Given the description of an element on the screen output the (x, y) to click on. 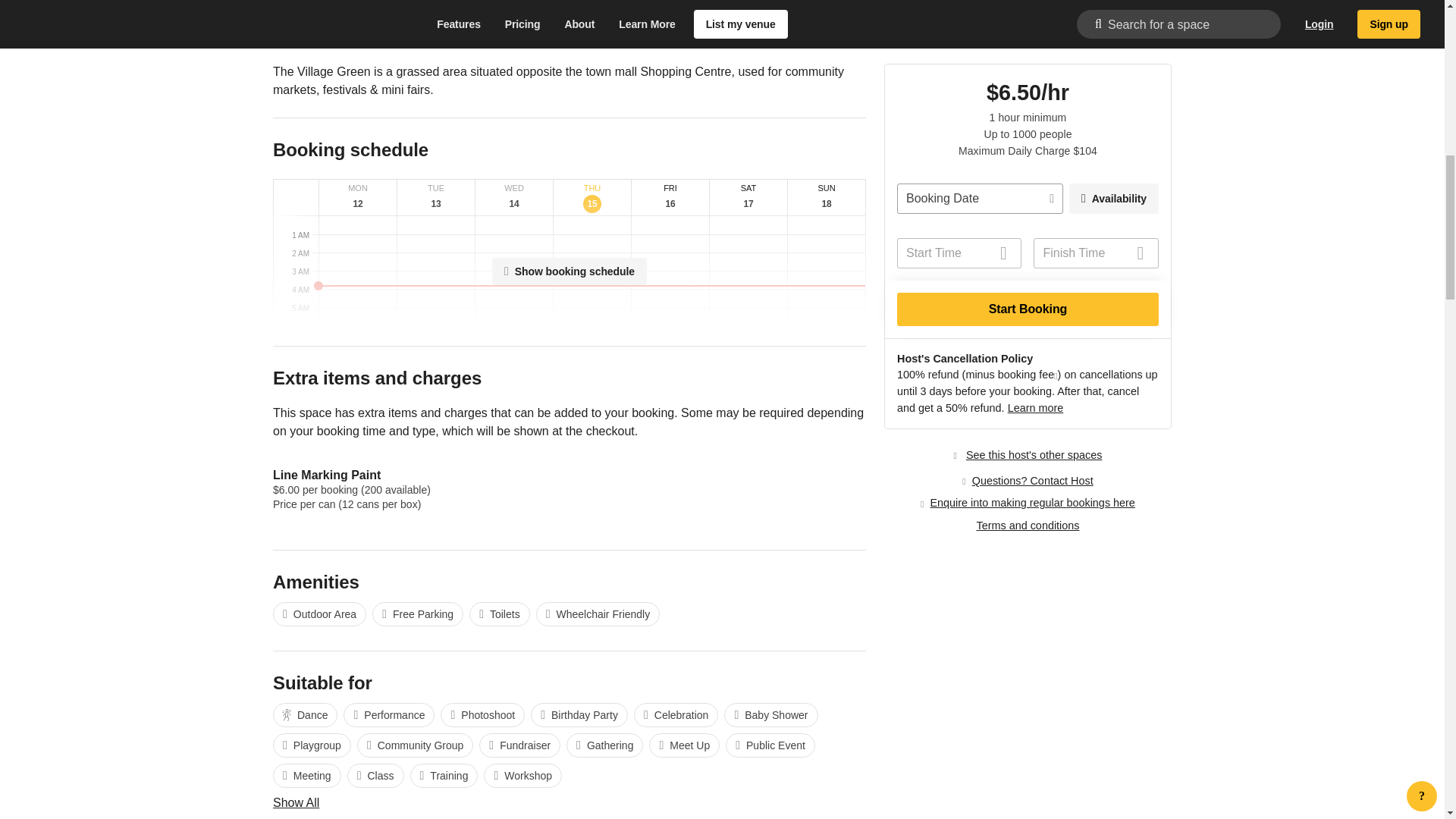
14 (513, 203)
15 (592, 203)
13 (357, 203)
